Given the description of an element on the screen output the (x, y) to click on. 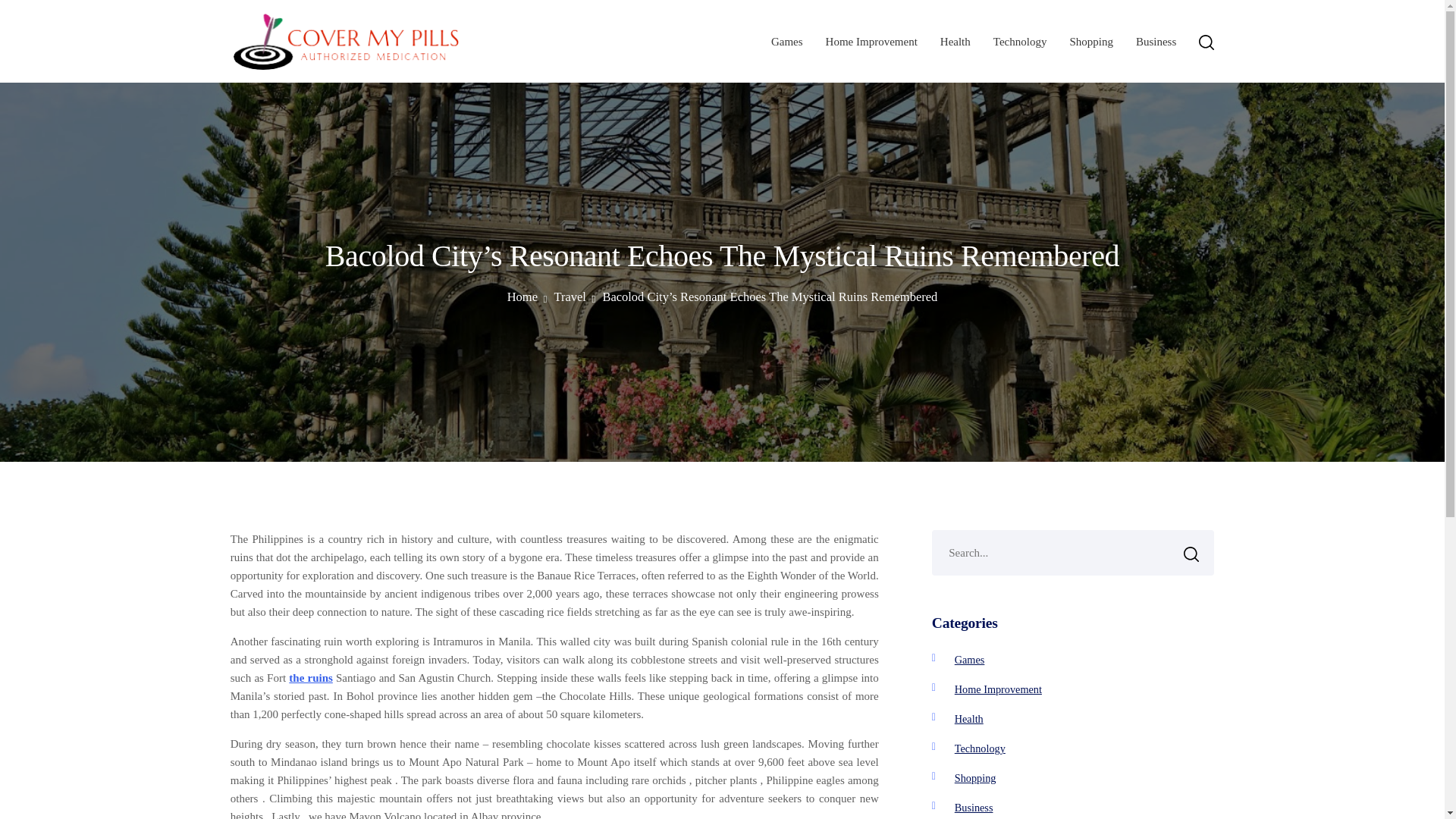
Home Improvement (871, 41)
Technology (1019, 41)
Home Improvement (998, 689)
Shopping (1090, 41)
the ruins (310, 677)
Shopping (975, 777)
Technology (980, 748)
Cover MY Pills (305, 88)
Travel (574, 296)
Games (787, 41)
